Given the description of an element on the screen output the (x, y) to click on. 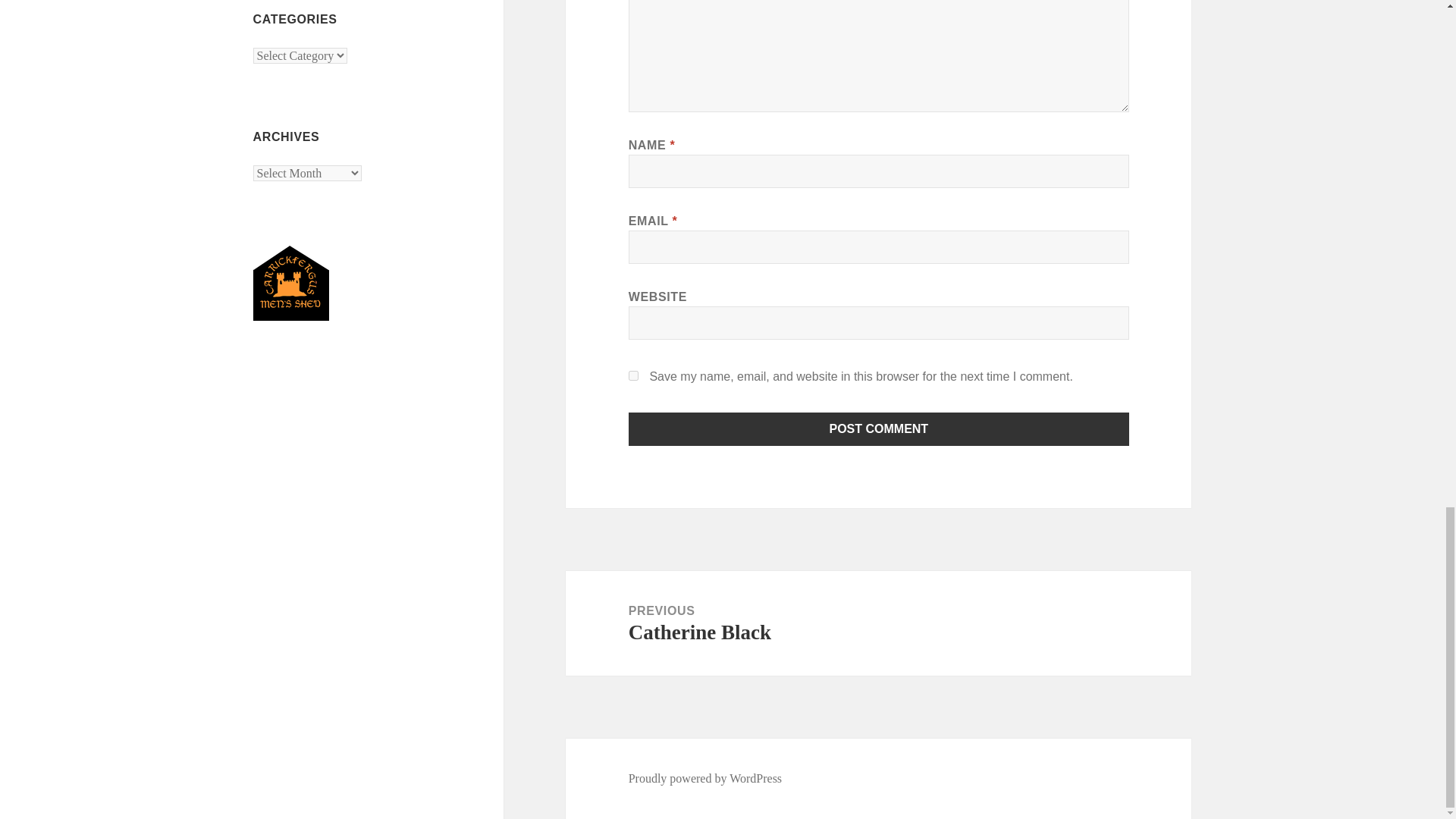
Post Comment (878, 623)
yes (878, 428)
Proudly powered by WordPress (633, 375)
Post Comment (704, 778)
